Given the description of an element on the screen output the (x, y) to click on. 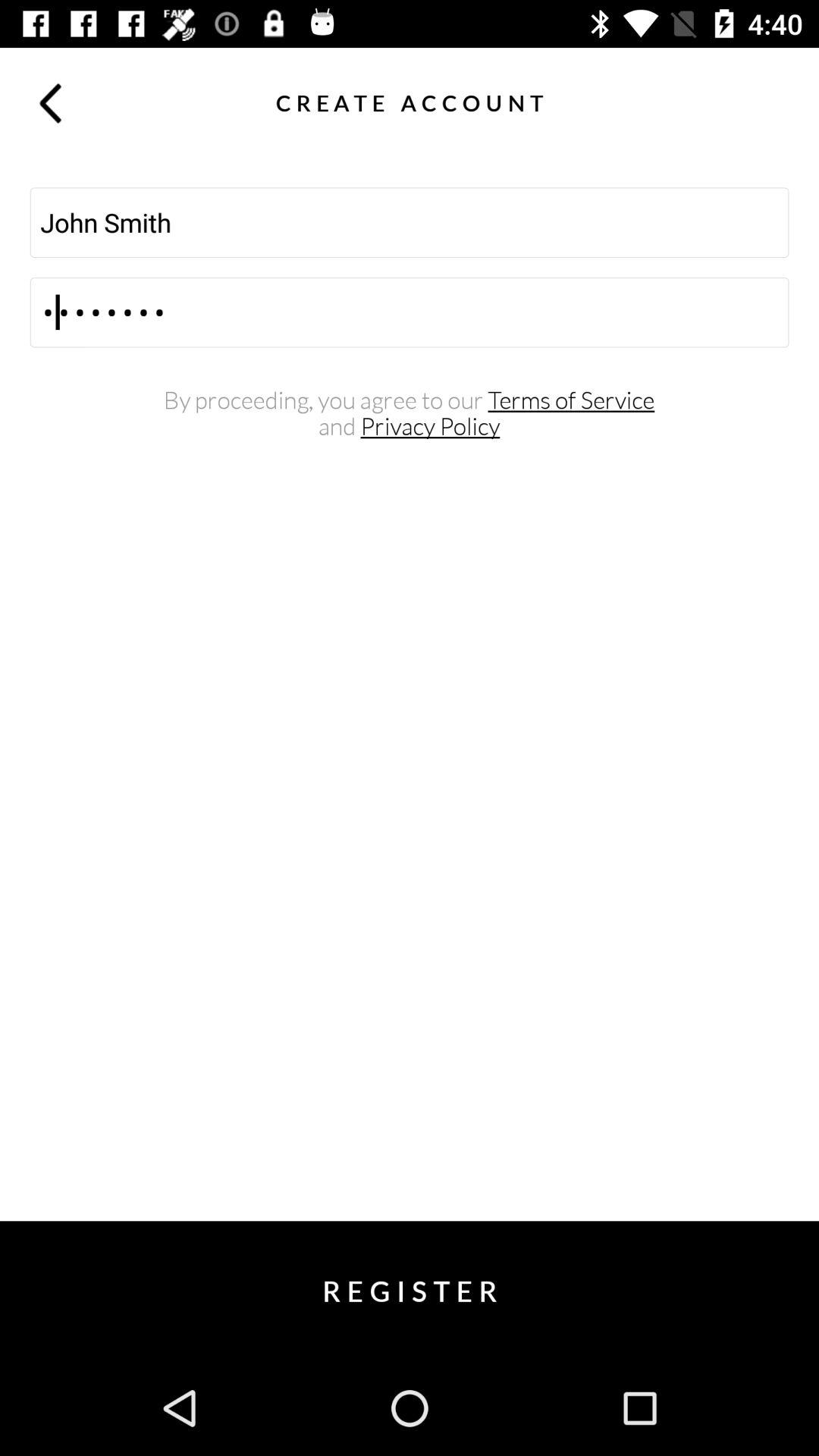
open the item above and privacy policy item (408, 400)
